Given the description of an element on the screen output the (x, y) to click on. 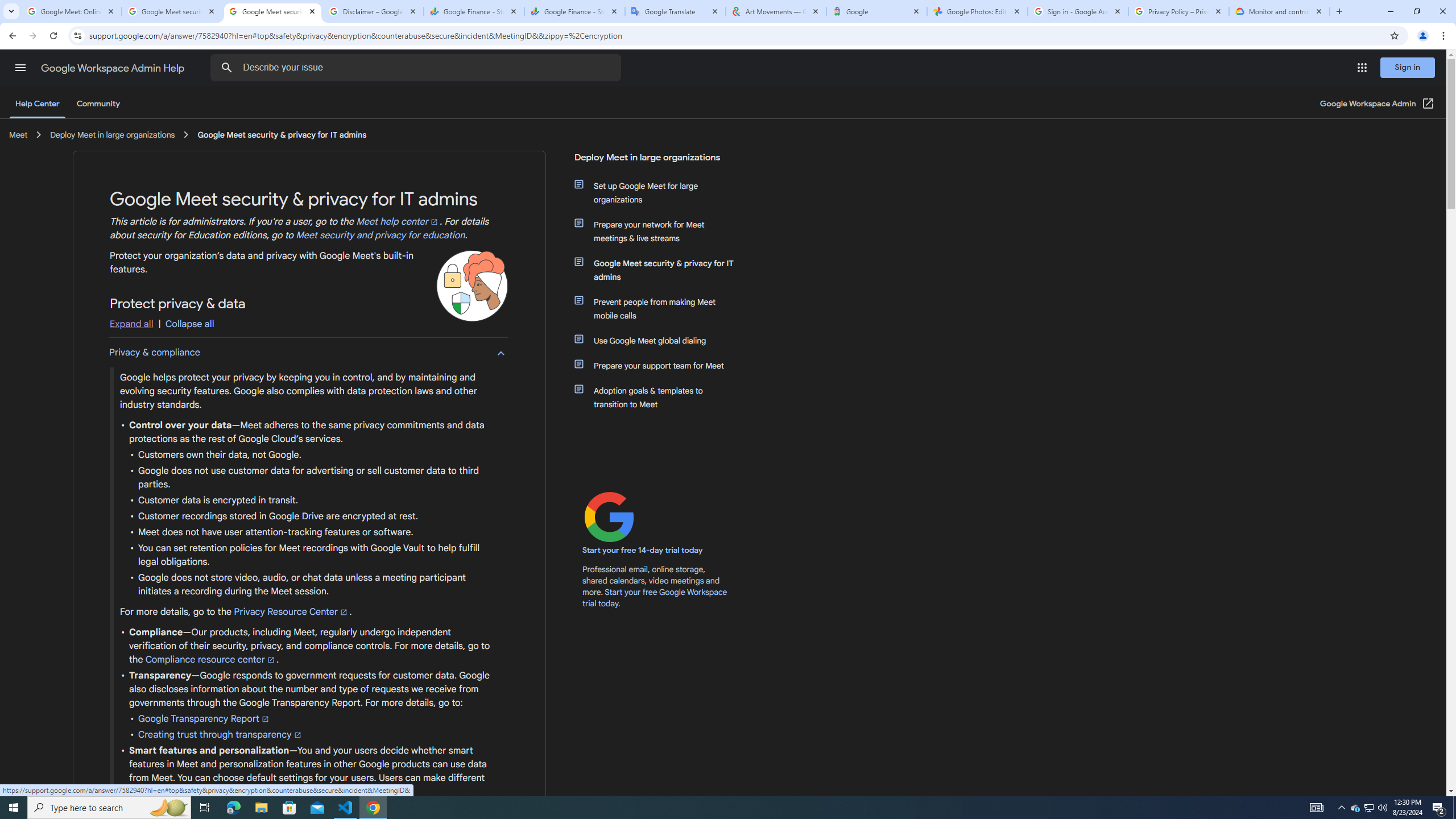
Meet  (17, 134)
Meet help center (397, 221)
Google apps (1362, 67)
Prevent people from making Meet mobile calls (661, 308)
Start your free 14-day trial today (642, 550)
Privacy & compliance (308, 352)
